Given the description of an element on the screen output the (x, y) to click on. 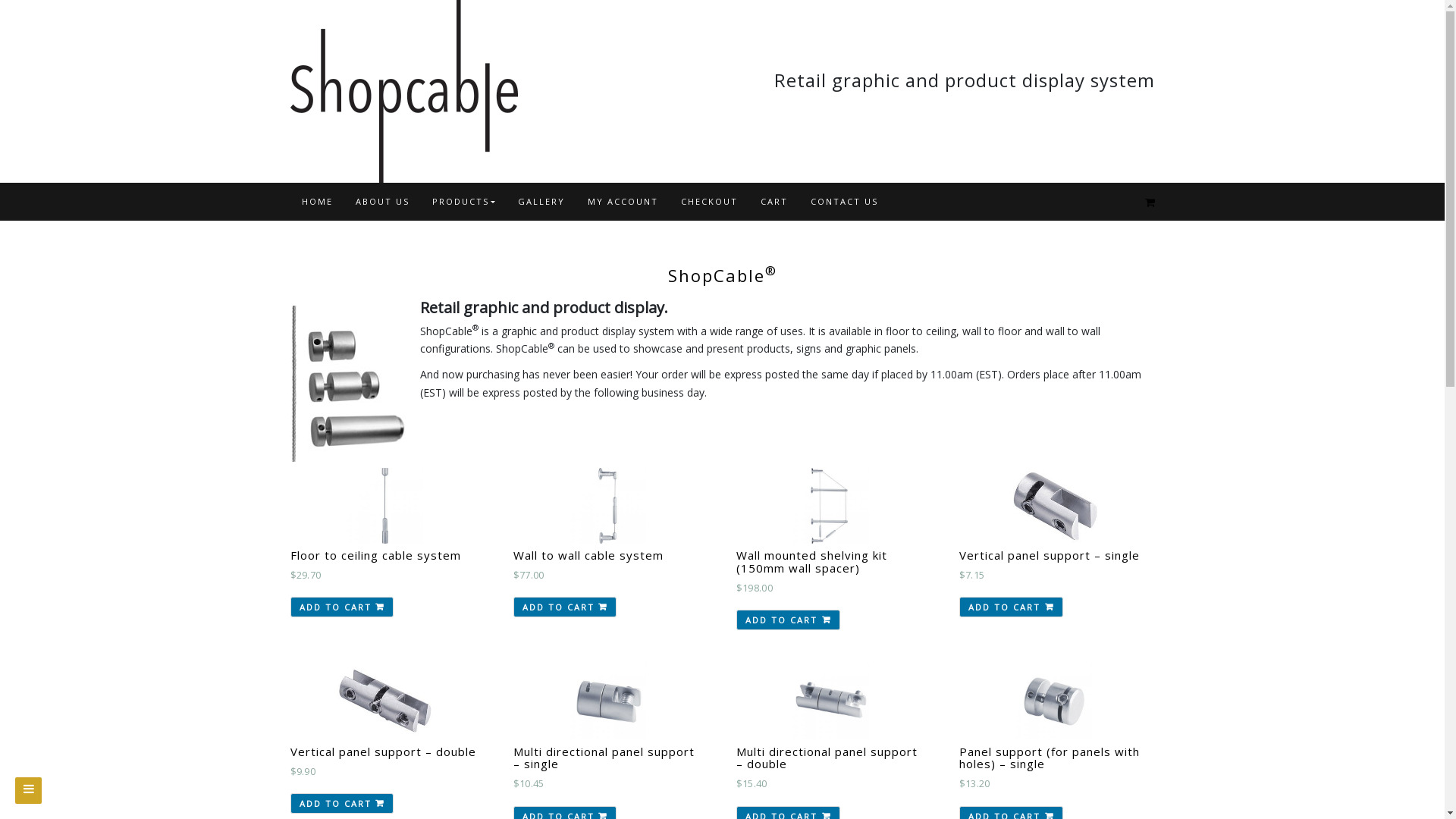
ADD TO CART Element type: text (341, 803)
CART Element type: text (774, 201)
CHECKOUT Element type: text (709, 201)
Wall mounted shelving kit (150mm wall spacer)
$198.00 Element type: text (831, 546)
Wall to wall cable system
$77.00 Element type: text (608, 540)
ADD TO CART Element type: text (1011, 606)
ADD TO CART Element type: text (565, 606)
ADD TO CART Element type: text (341, 606)
MY ACCOUNT Element type: text (622, 201)
Floor to ceiling cable system
$29.70 Element type: text (384, 540)
ABOUT US Element type: text (382, 201)
GALLERY Element type: text (541, 201)
PRODUCTS Element type: text (463, 201)
ADD TO CART Element type: text (788, 619)
HOME Element type: text (316, 201)
CONTACT US Element type: text (844, 201)
